Given the description of an element on the screen output the (x, y) to click on. 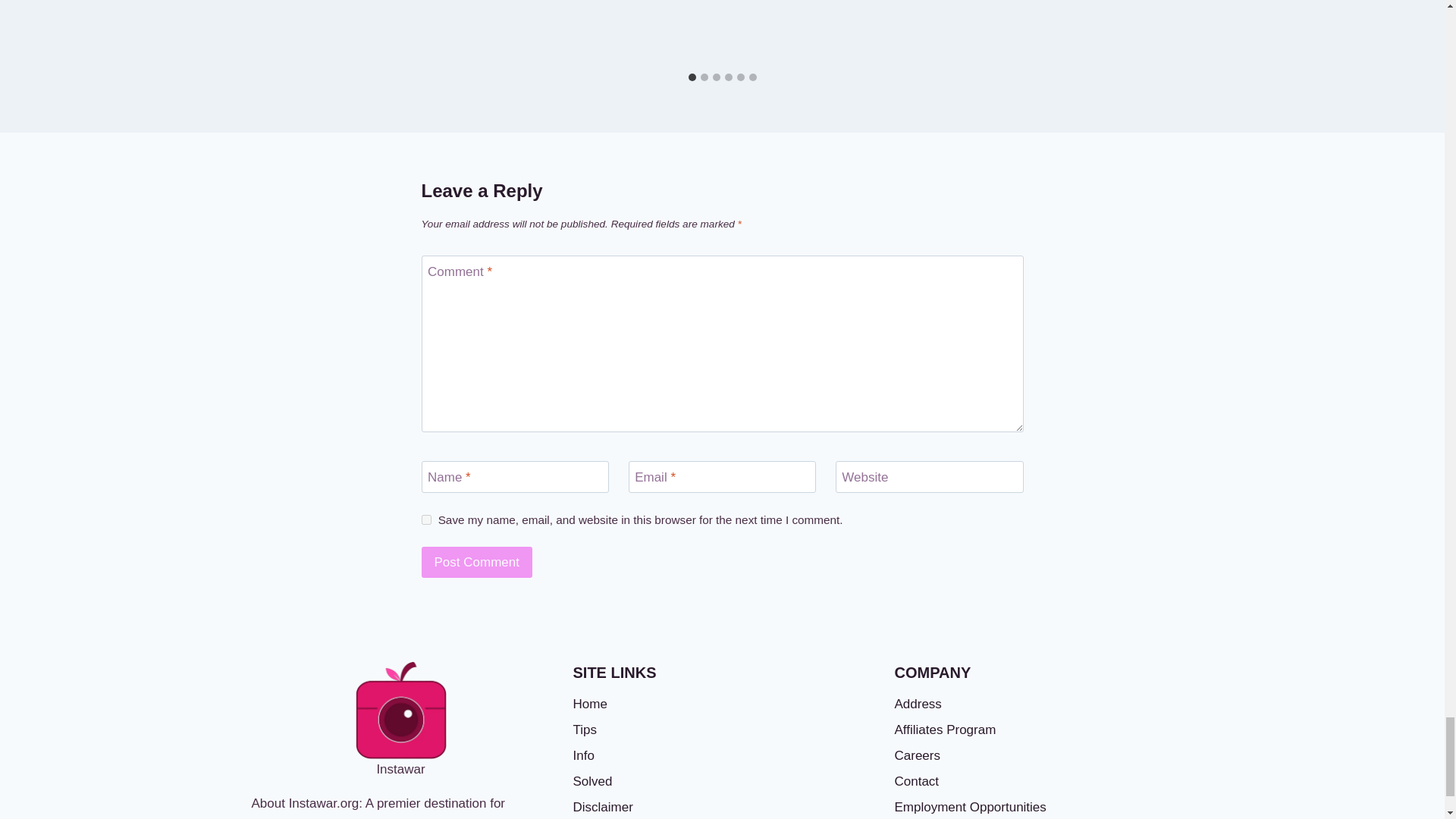
yes (426, 519)
Post Comment (477, 562)
